Given the description of an element on the screen output the (x, y) to click on. 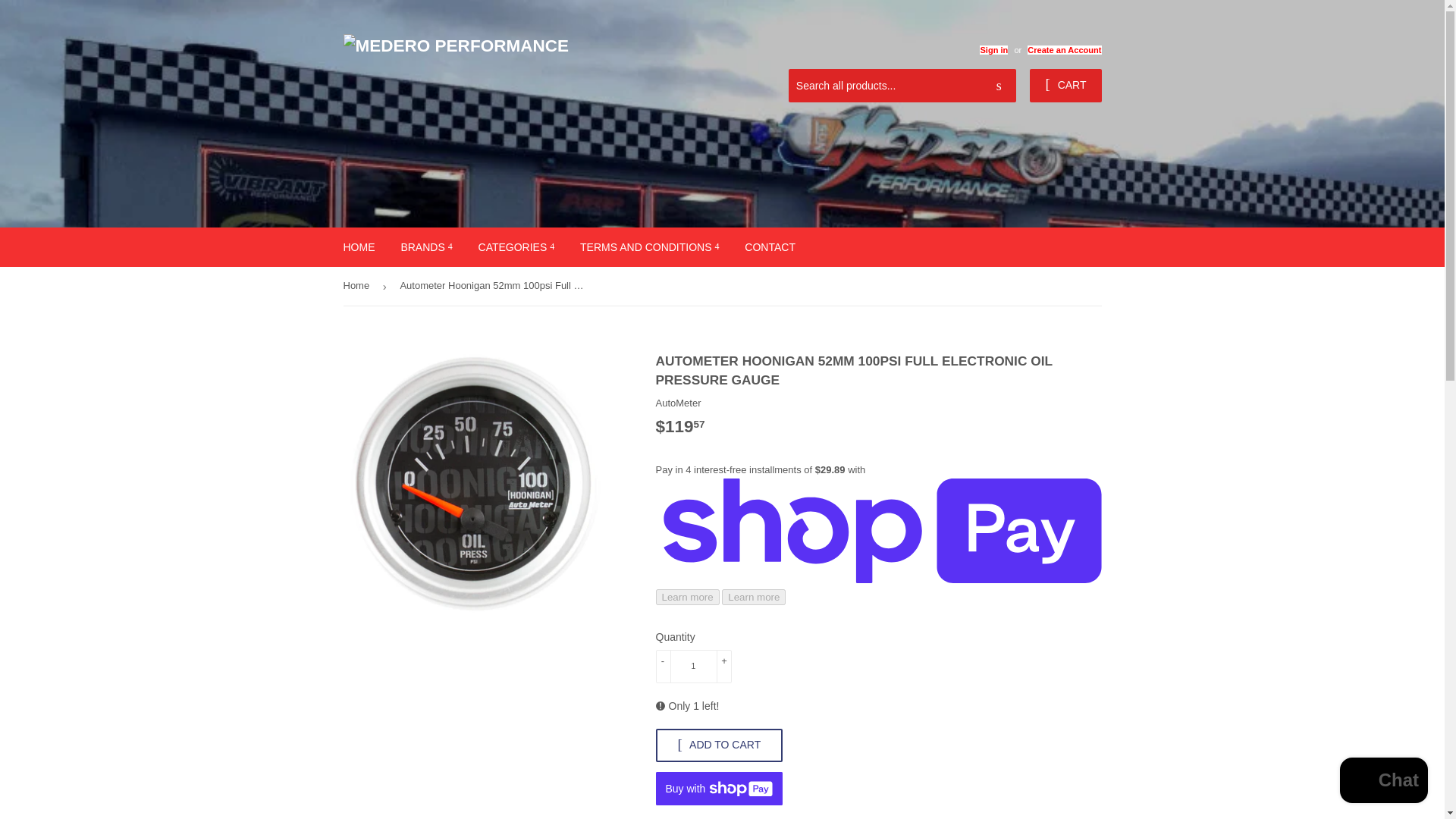
CART (1064, 85)
1 (692, 666)
Search (998, 86)
Create an Account (1063, 49)
Sign in (993, 49)
Shopify online store chat (1383, 781)
